Given the description of an element on the screen output the (x, y) to click on. 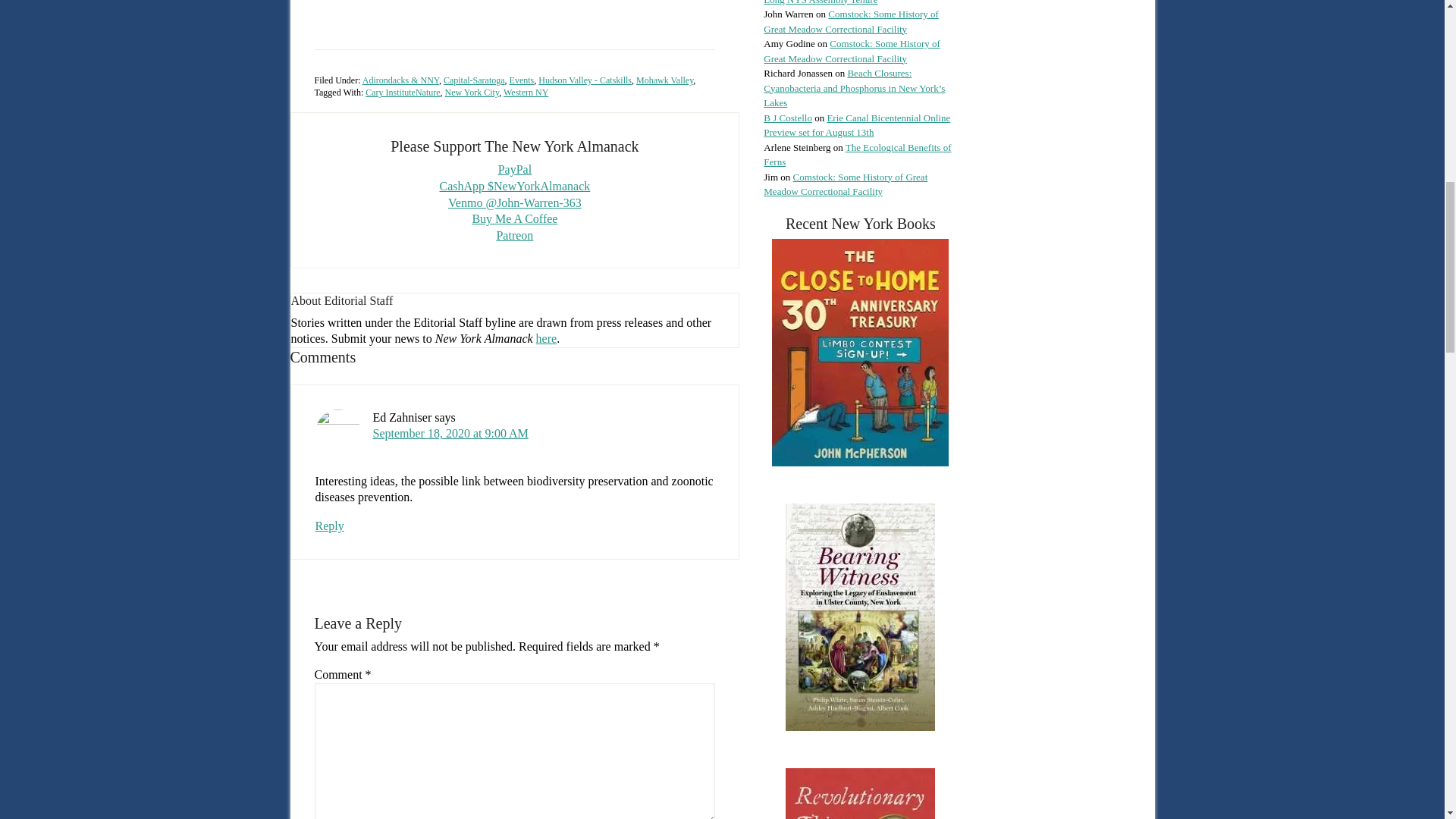
Nature (427, 91)
Events (521, 80)
Hudson Valley - Catskills (584, 80)
Cary Institute (389, 91)
PayPal (514, 169)
Mohawk Valley (664, 80)
New York City (472, 91)
Western NY (525, 91)
Capital-Saratoga (474, 80)
